Given the description of an element on the screen output the (x, y) to click on. 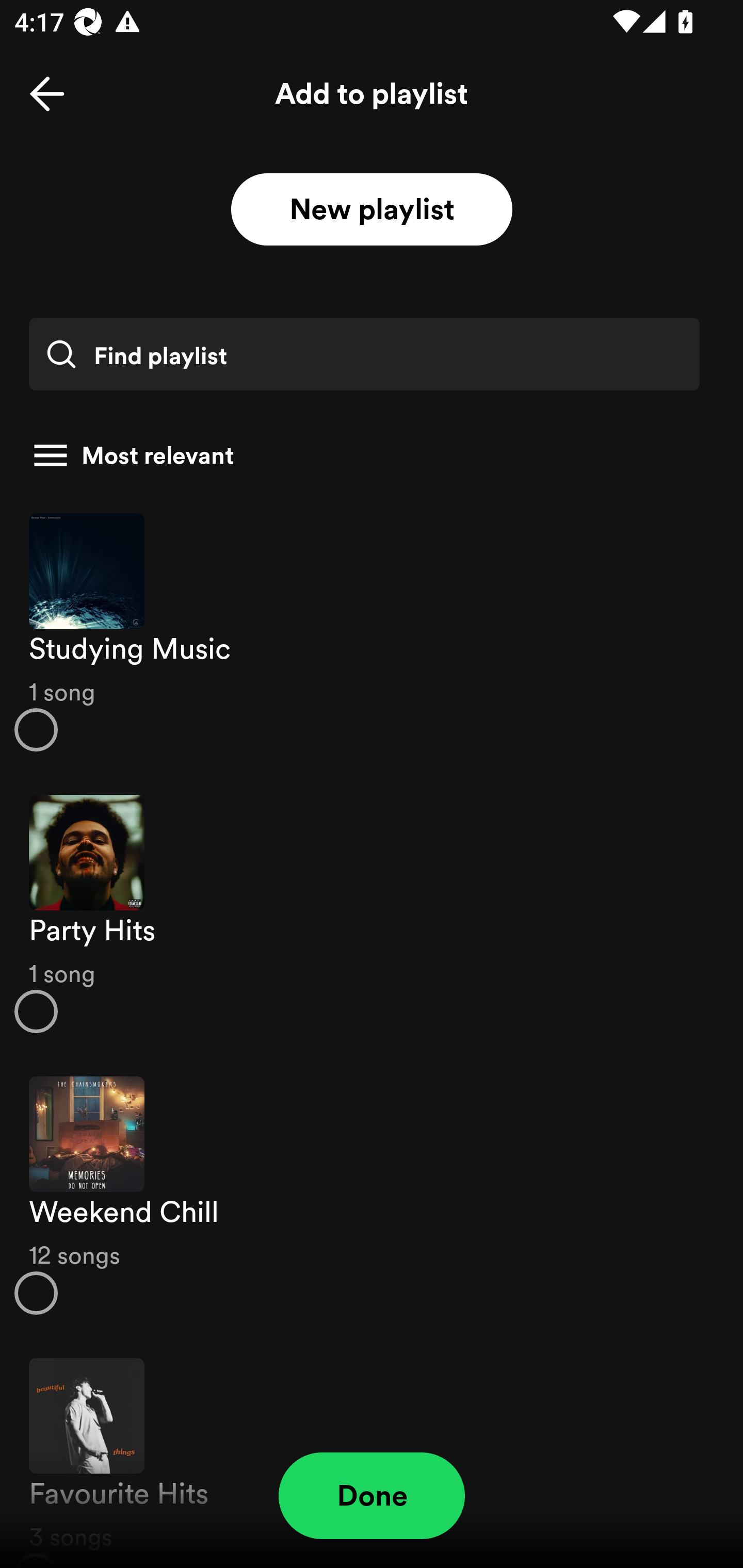
Back (46, 93)
New playlist (371, 210)
Find playlist (363, 354)
Most relevant (363, 455)
Studying Music 1 song (371, 631)
Party Hits 1 song (371, 914)
Weekend Chill 12 songs (371, 1195)
Favourite Hits 3 songs (371, 1451)
Done (371, 1495)
